Given the description of an element on the screen output the (x, y) to click on. 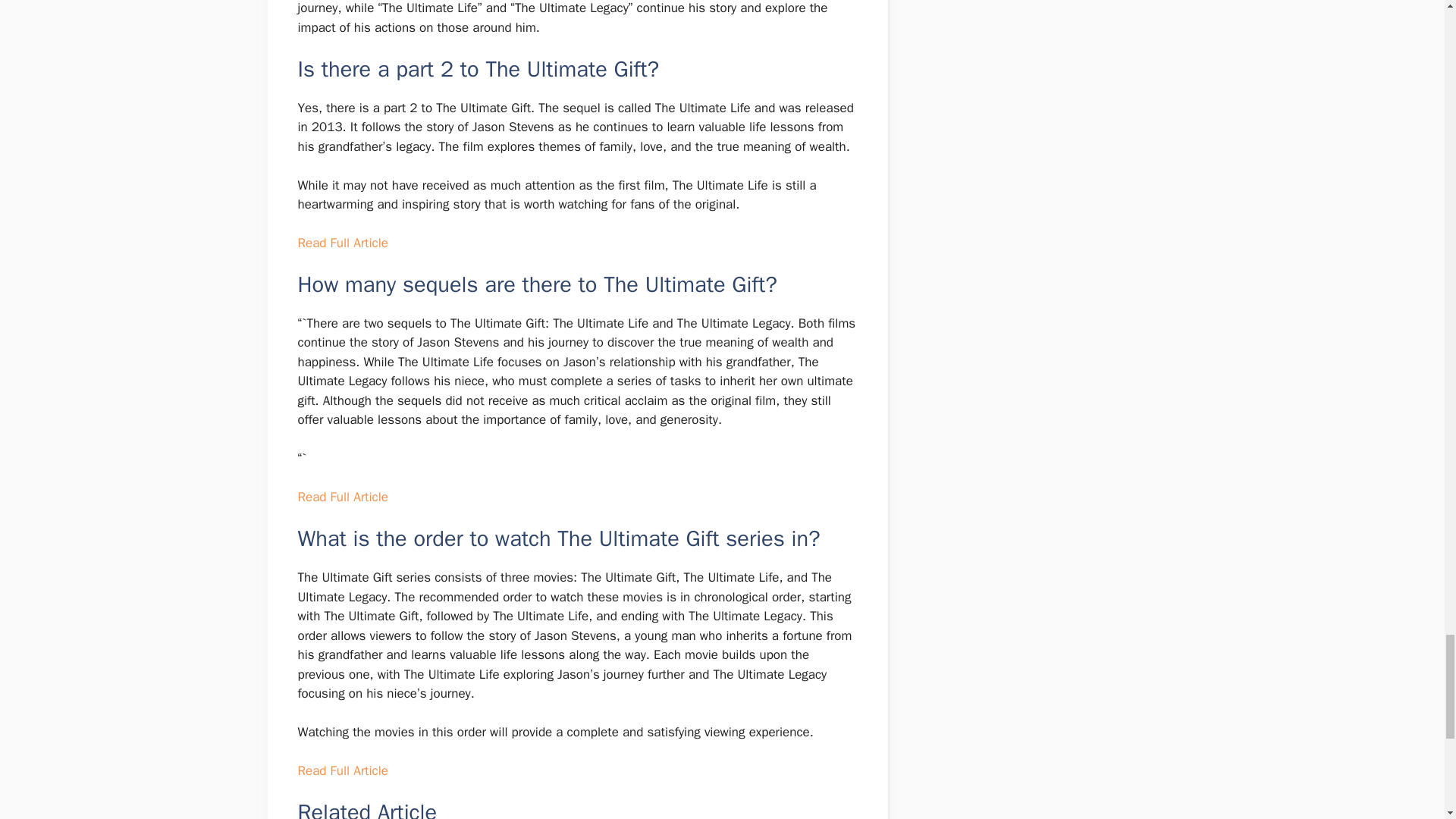
Read Full Article (342, 242)
Read Full Article (342, 770)
Read Full Article (342, 496)
